Given the description of an element on the screen output the (x, y) to click on. 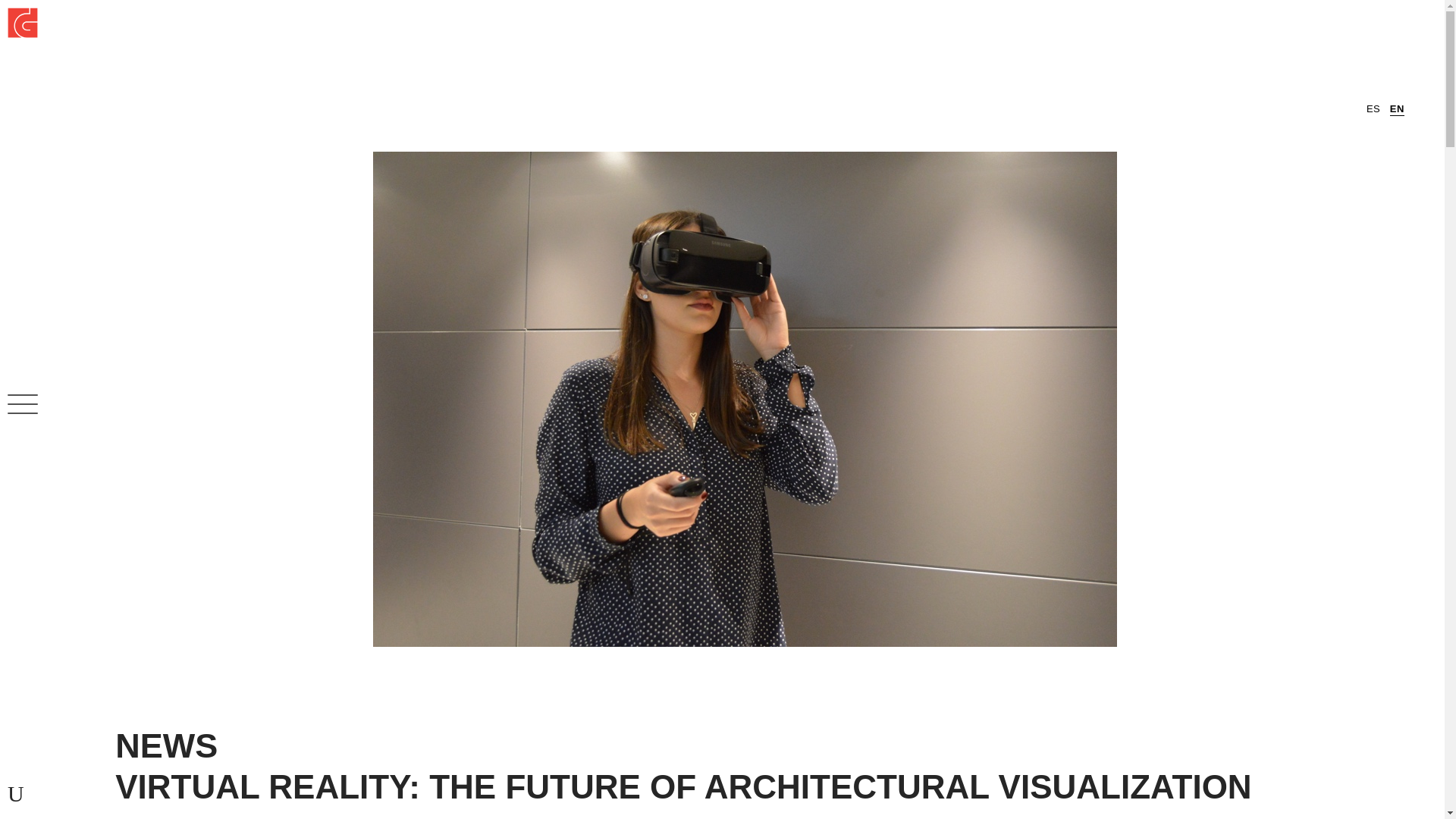
ES (1373, 110)
EN (1397, 110)
Inicio (11, 7)
